Given the description of an element on the screen output the (x, y) to click on. 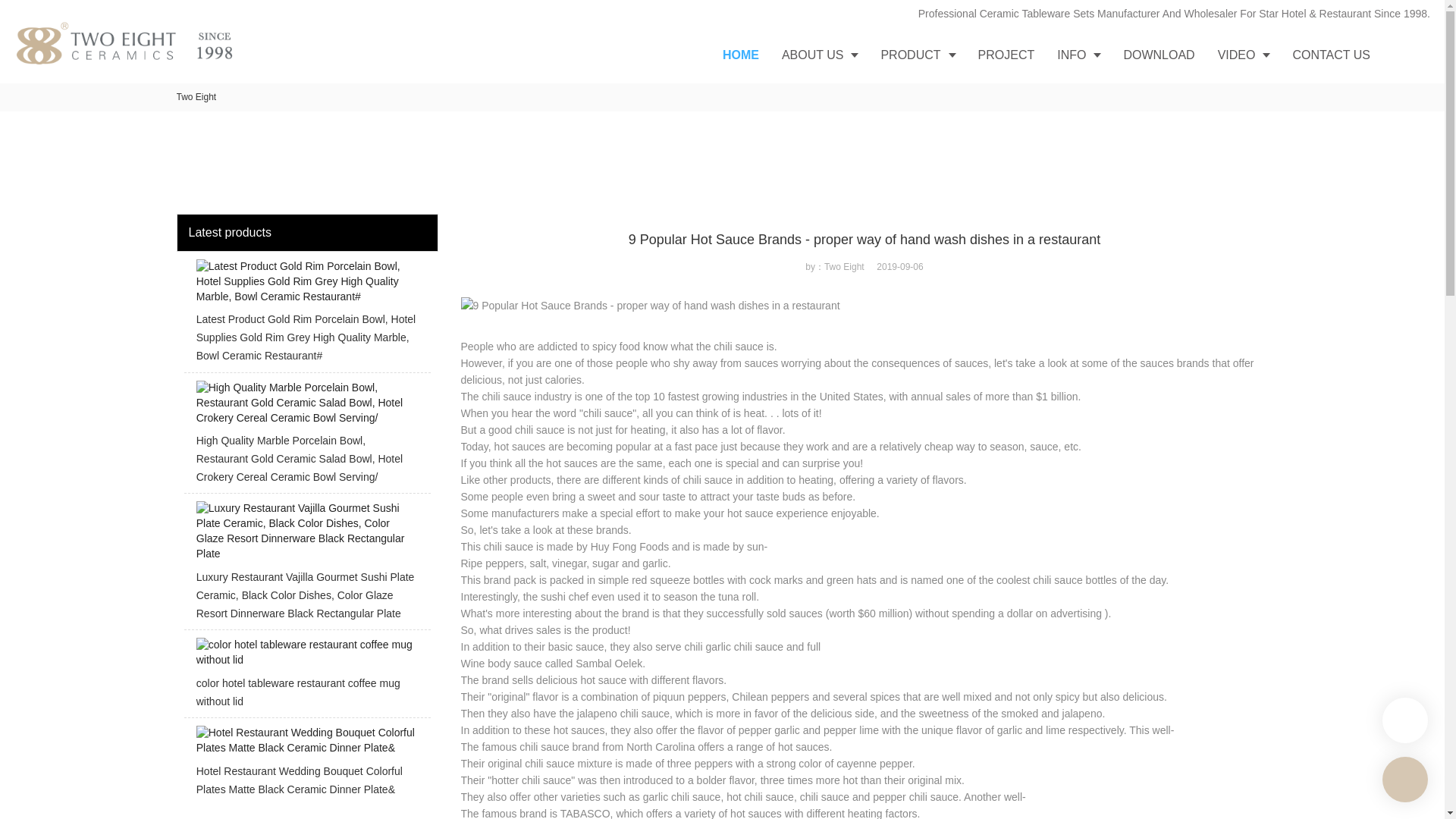
color hotel tableware restaurant coffee mug without lid (306, 677)
CONTACT US (1331, 55)
HOME (740, 55)
ABOUT US (819, 55)
Two Eight (195, 96)
PRODUCT (917, 55)
INFO (1078, 55)
DOWNLOAD (1158, 55)
PROJECT (1006, 55)
